Given the description of an element on the screen output the (x, y) to click on. 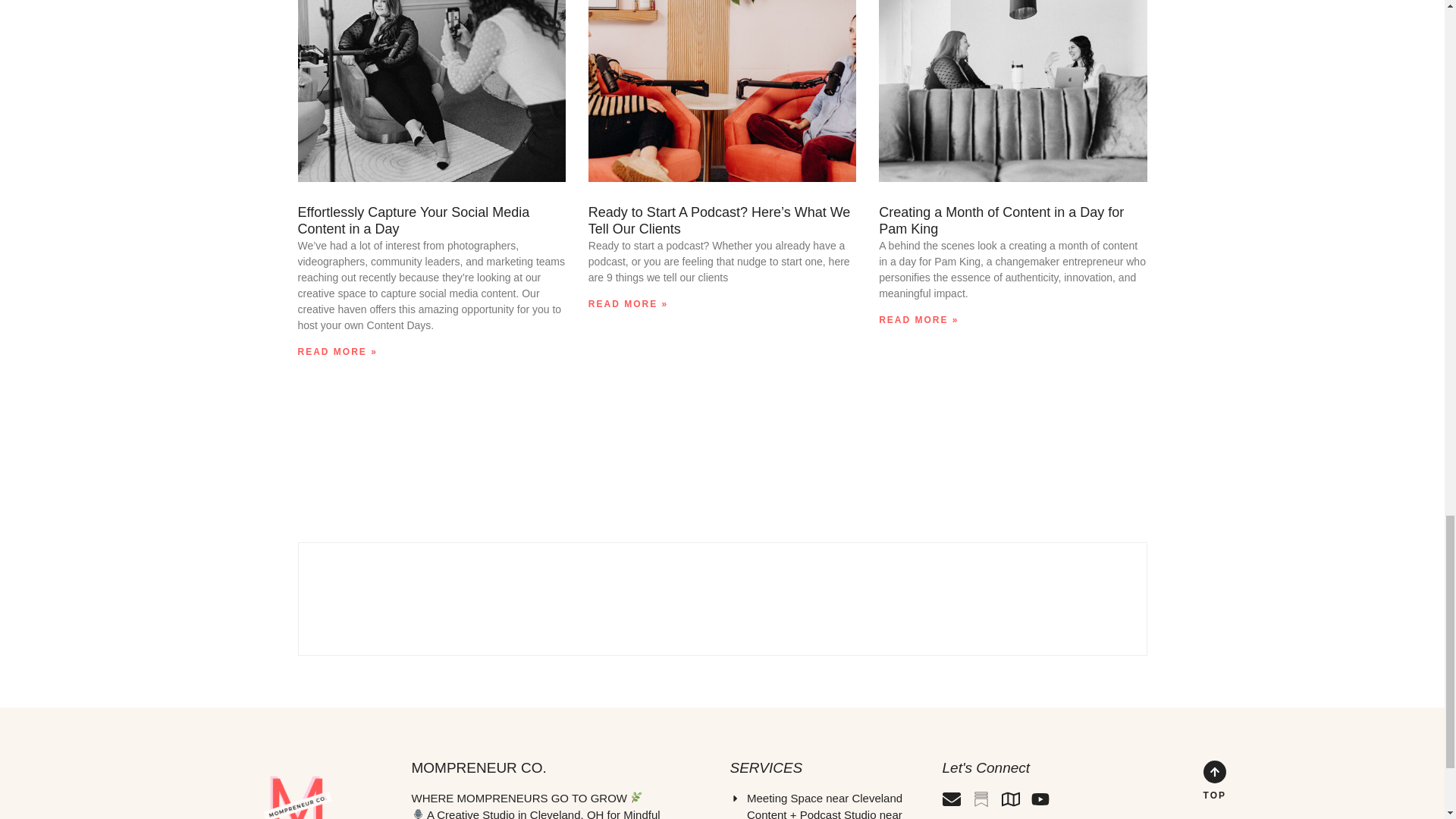
Creating a Month of Content in a Day for Pam King (1001, 220)
Meeting Space near Cleveland (827, 798)
Effortlessly Capture Your Social Media Content in a Day (413, 220)
